Given the description of an element on the screen output the (x, y) to click on. 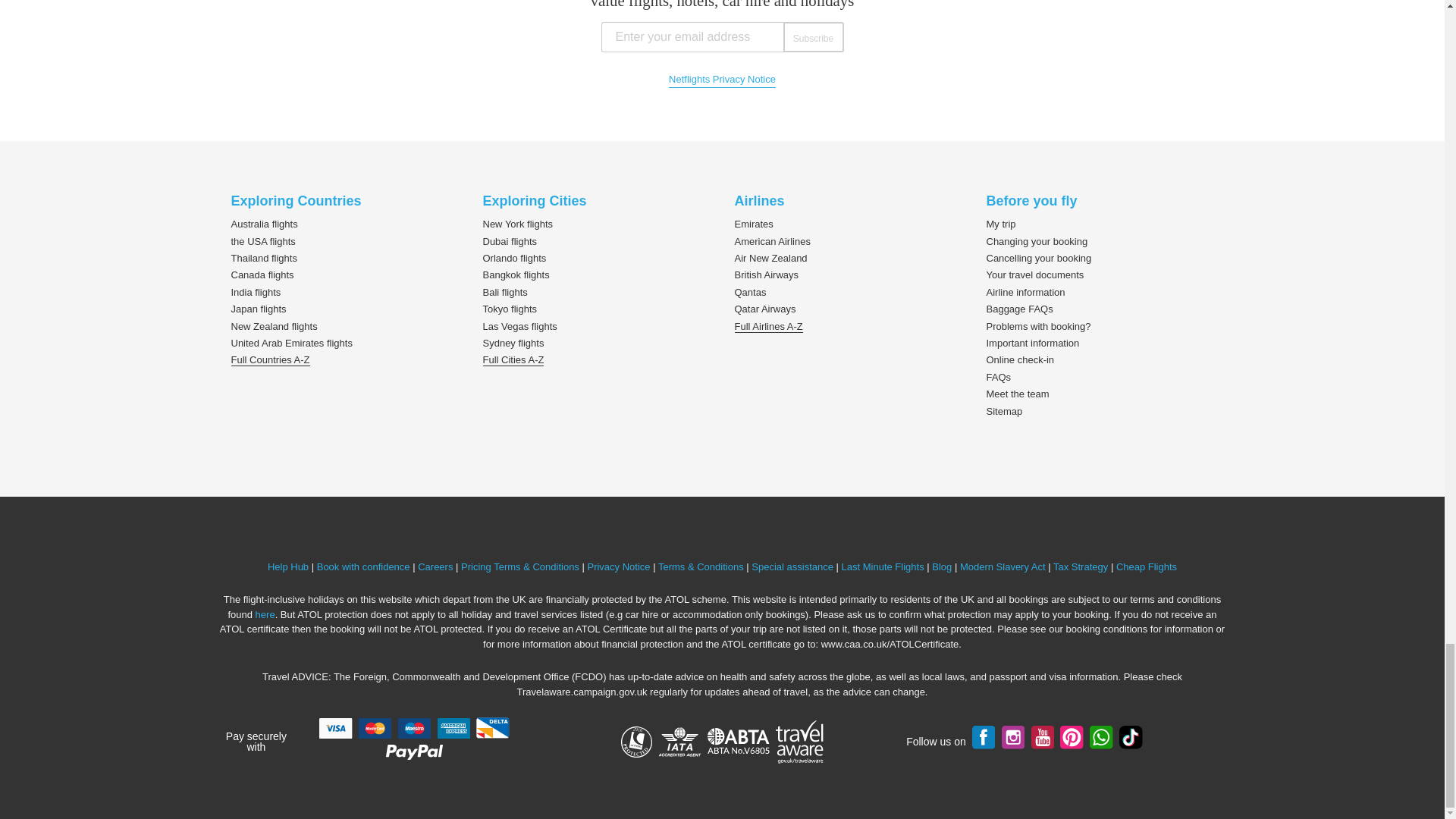
cheap flights (1146, 566)
Dnata Careers (434, 566)
Help Hub (287, 566)
